Given the description of an element on the screen output the (x, y) to click on. 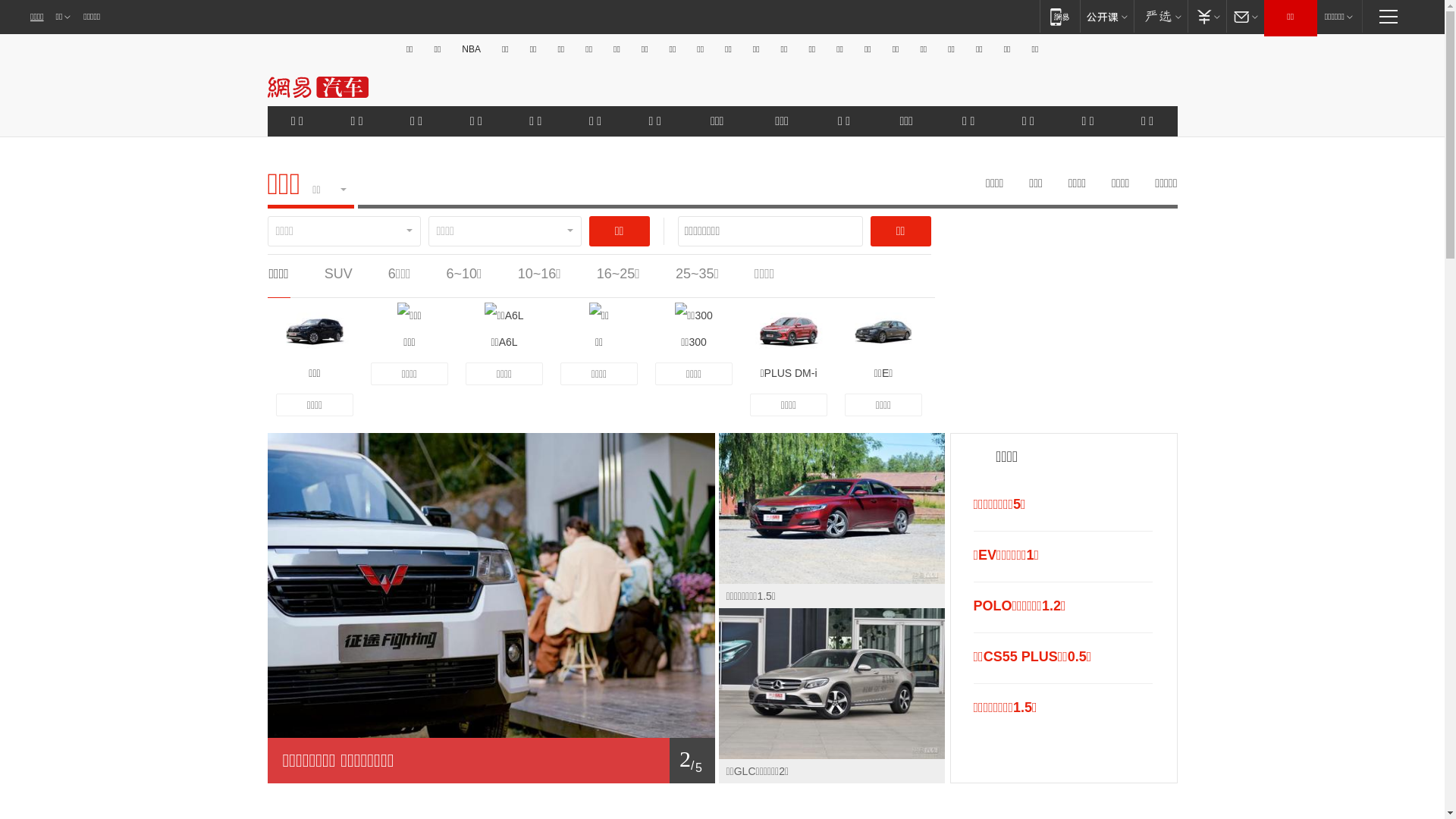
SUV Element type: text (338, 273)
NBA Element type: text (471, 48)
1/ 5 Element type: text (490, 760)
